Given the description of an element on the screen output the (x, y) to click on. 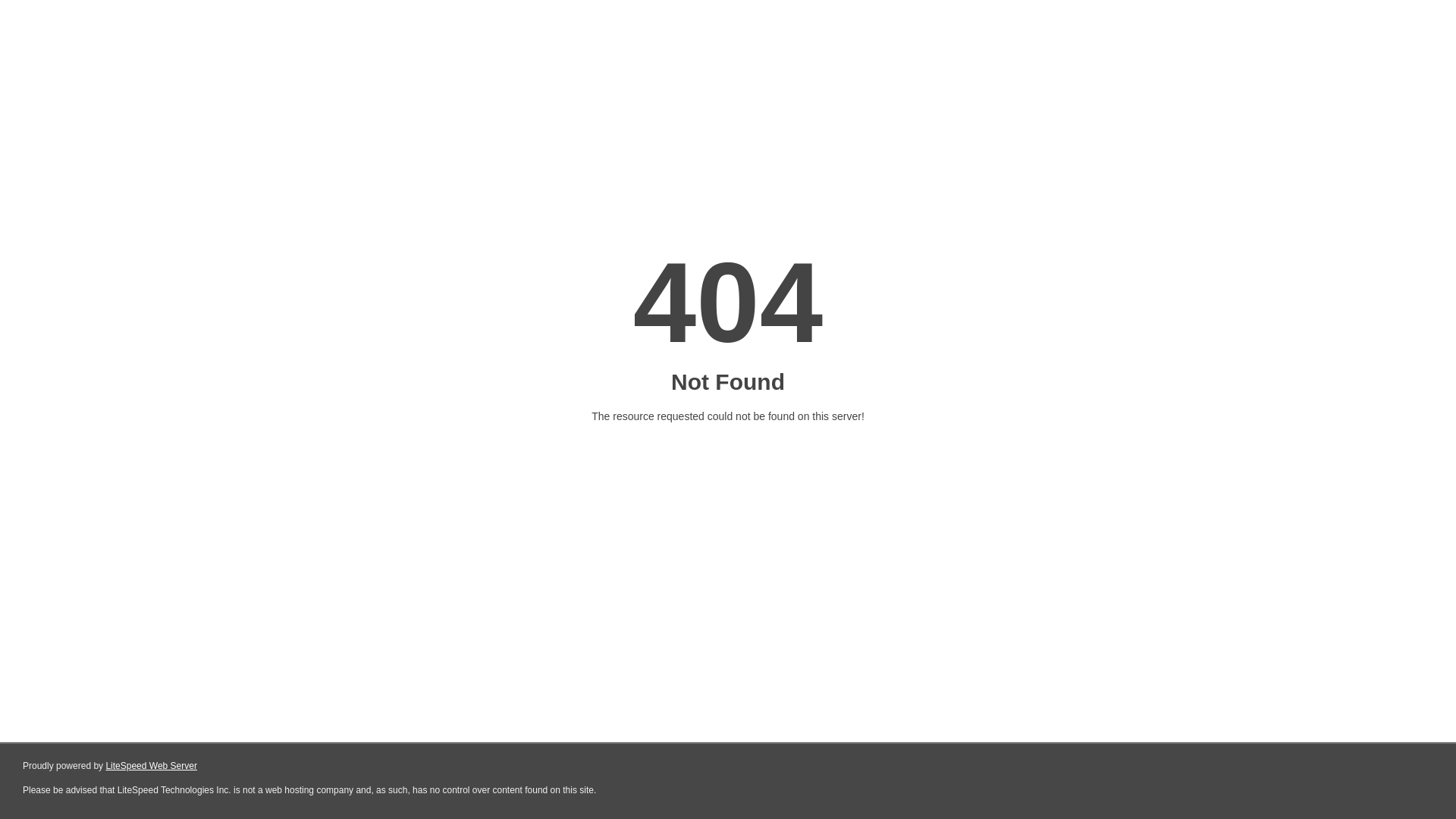
LiteSpeed Web Server Element type: text (151, 765)
